Given the description of an element on the screen output the (x, y) to click on. 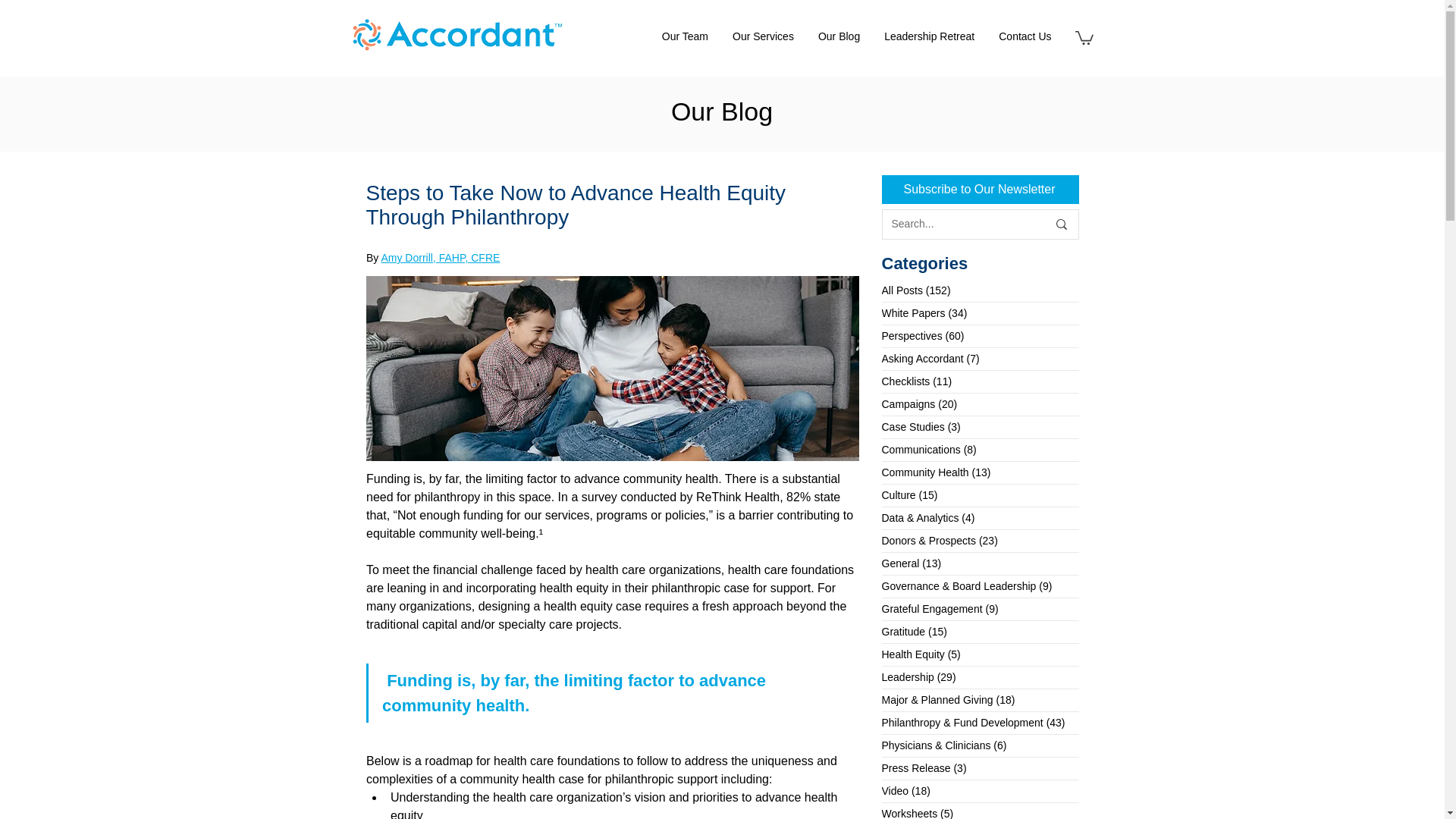
Amy Dorrill, FAHP, CFRE (439, 256)
Subscribe to Our Newsletter (979, 189)
Our Team (684, 36)
Our Blog (839, 36)
Our Services (762, 36)
Leadership Retreat (928, 36)
Contact Us (1024, 36)
